Given the description of an element on the screen output the (x, y) to click on. 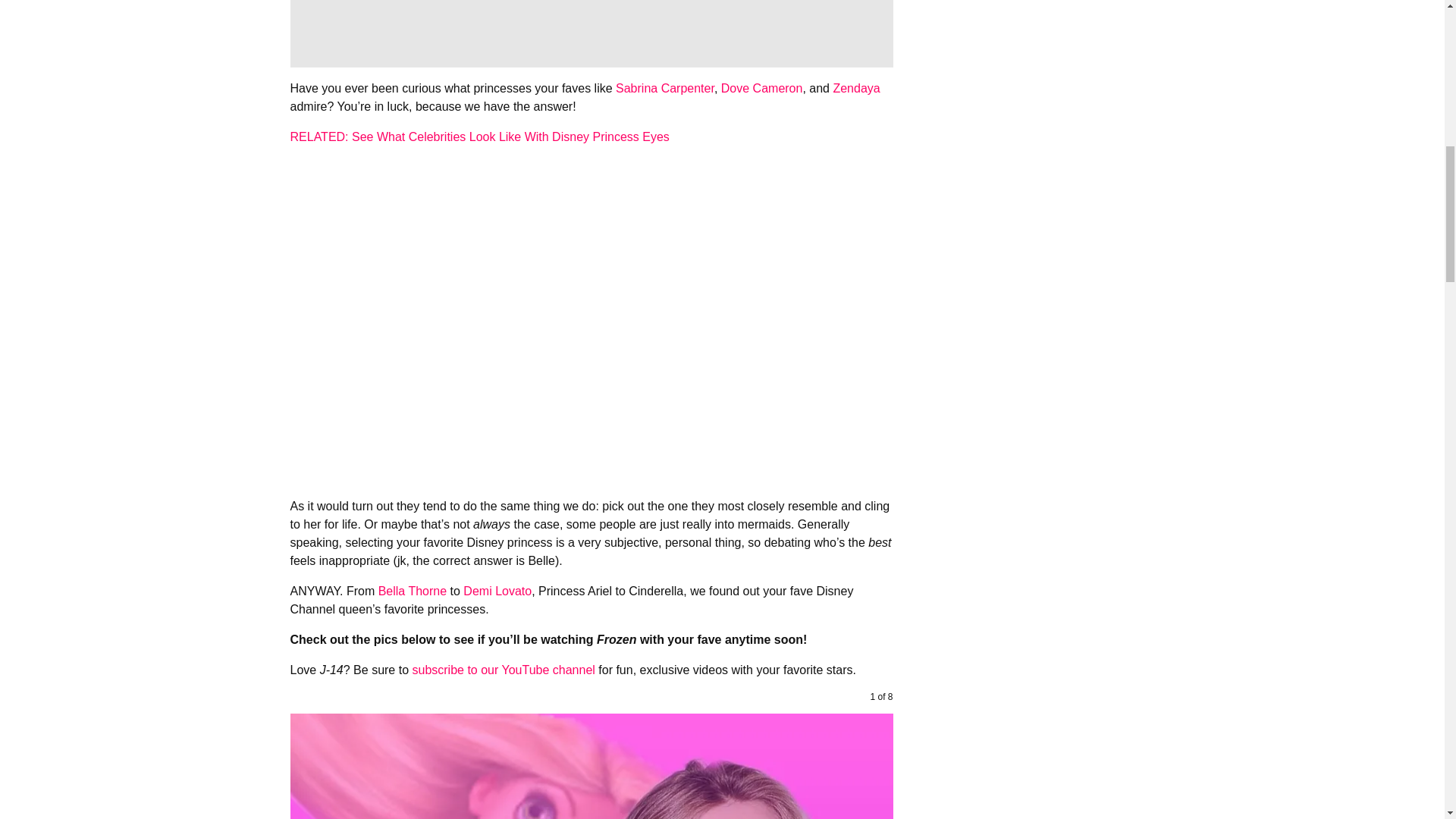
Bella Thorne (412, 590)
Demi Lovato (497, 590)
subscribe to our YouTube channel (503, 669)
Dove Cameron (761, 88)
Sabrina Carpenter (664, 88)
Zendaya (855, 88)
